Given the description of an element on the screen output the (x, y) to click on. 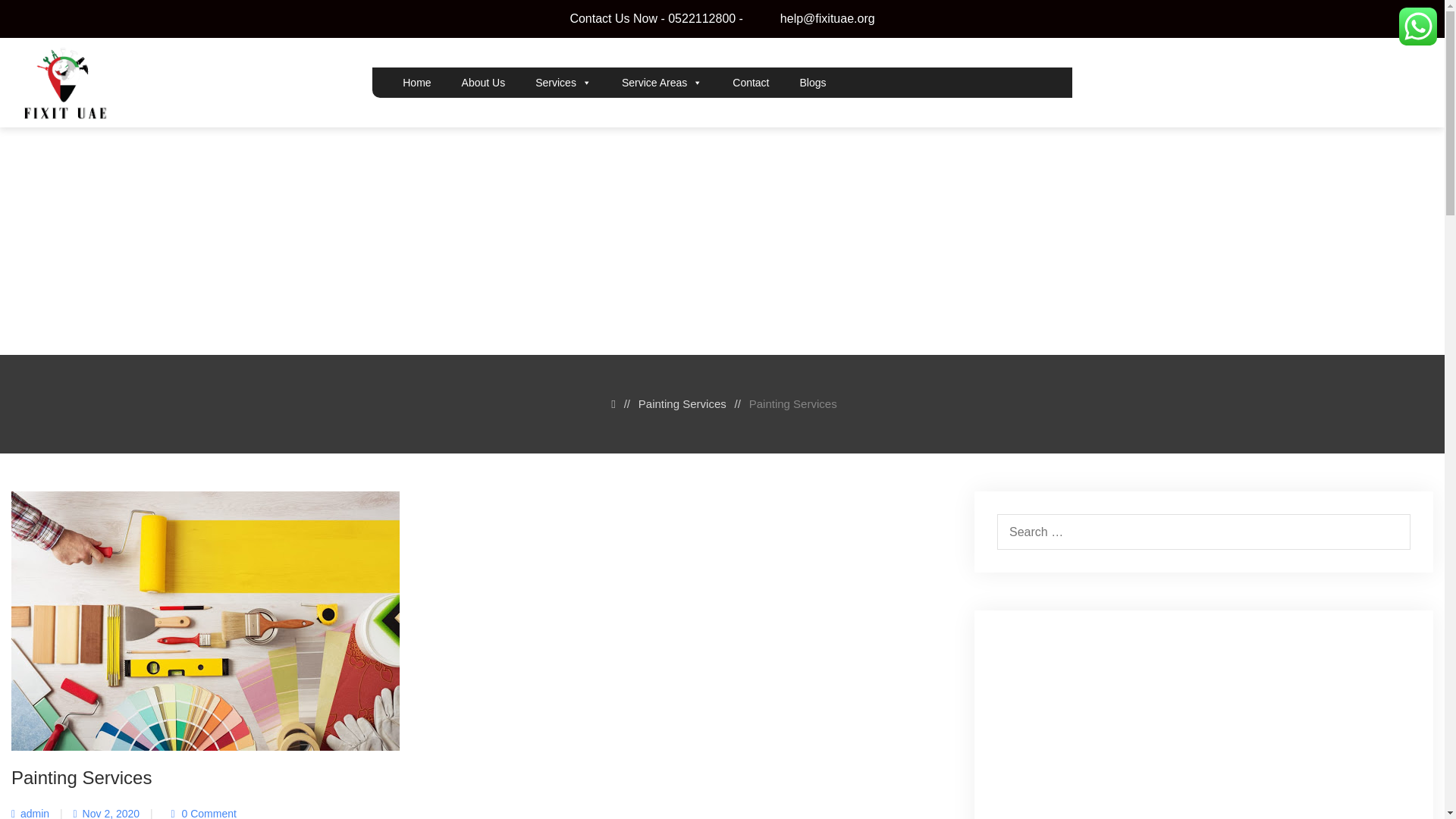
Home (409, 82)
0522112800 (701, 18)
Services (555, 82)
About Us (476, 82)
